Given the description of an element on the screen output the (x, y) to click on. 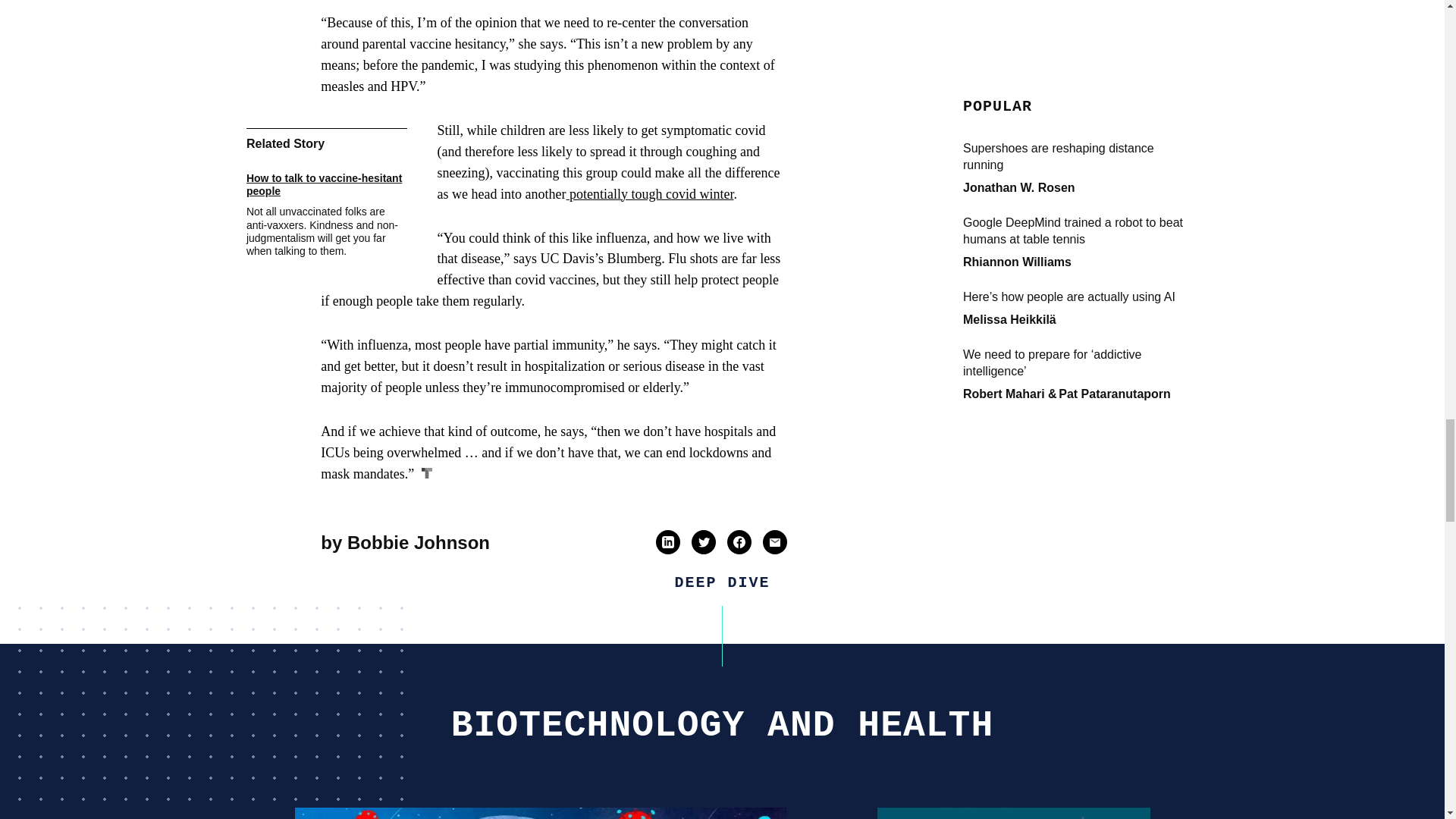
Share story on linkedin (668, 541)
potentially tough covid winter (649, 193)
Share story on twitter (703, 541)
Share story on facebook (739, 541)
Bobbie Johnson (418, 542)
Share story on email (774, 541)
How to talk to vaccine-hesitant people (326, 184)
